Given the description of an element on the screen output the (x, y) to click on. 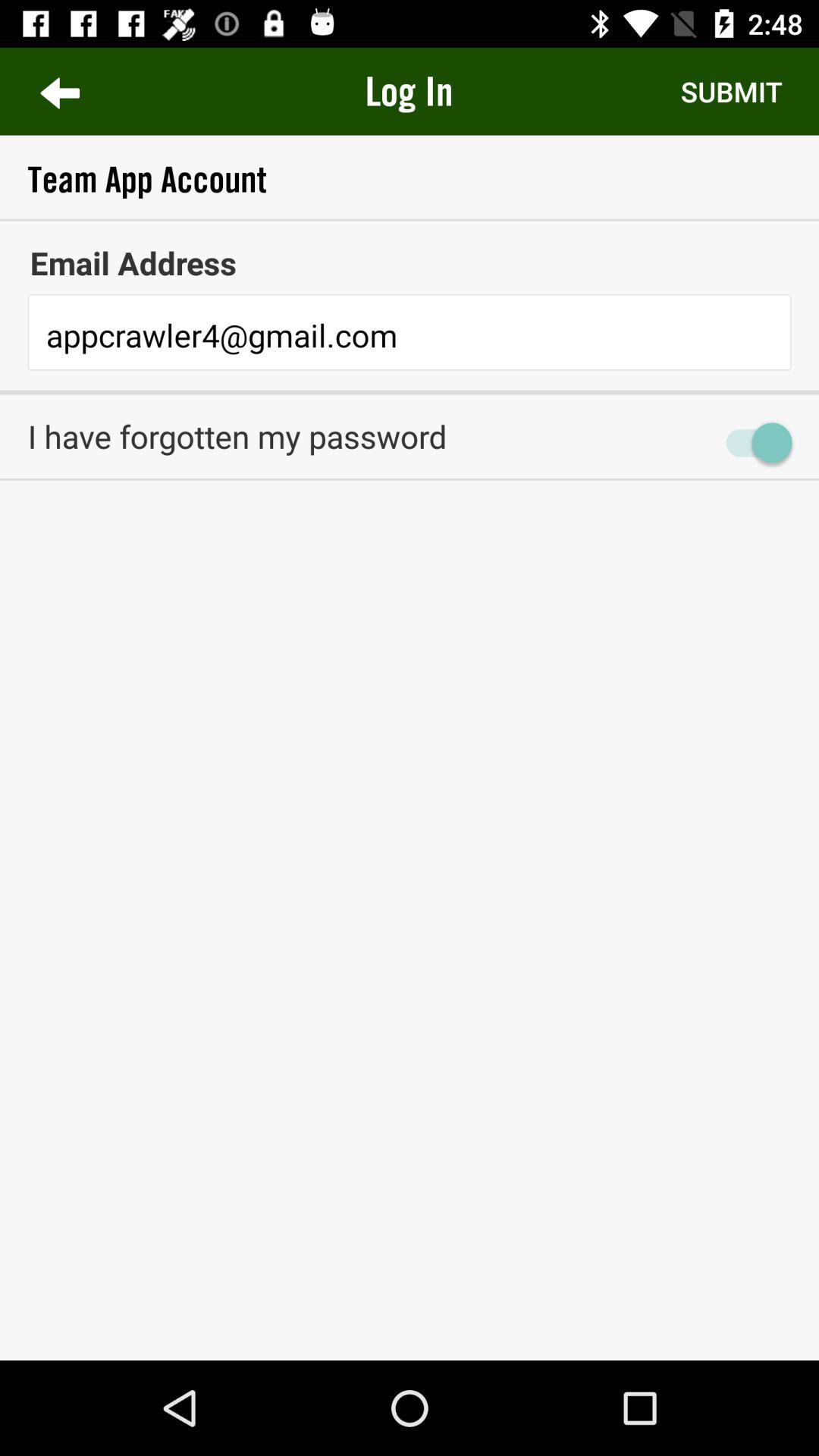
turn off appcrawler4@gmail.com icon (409, 336)
